Given the description of an element on the screen output the (x, y) to click on. 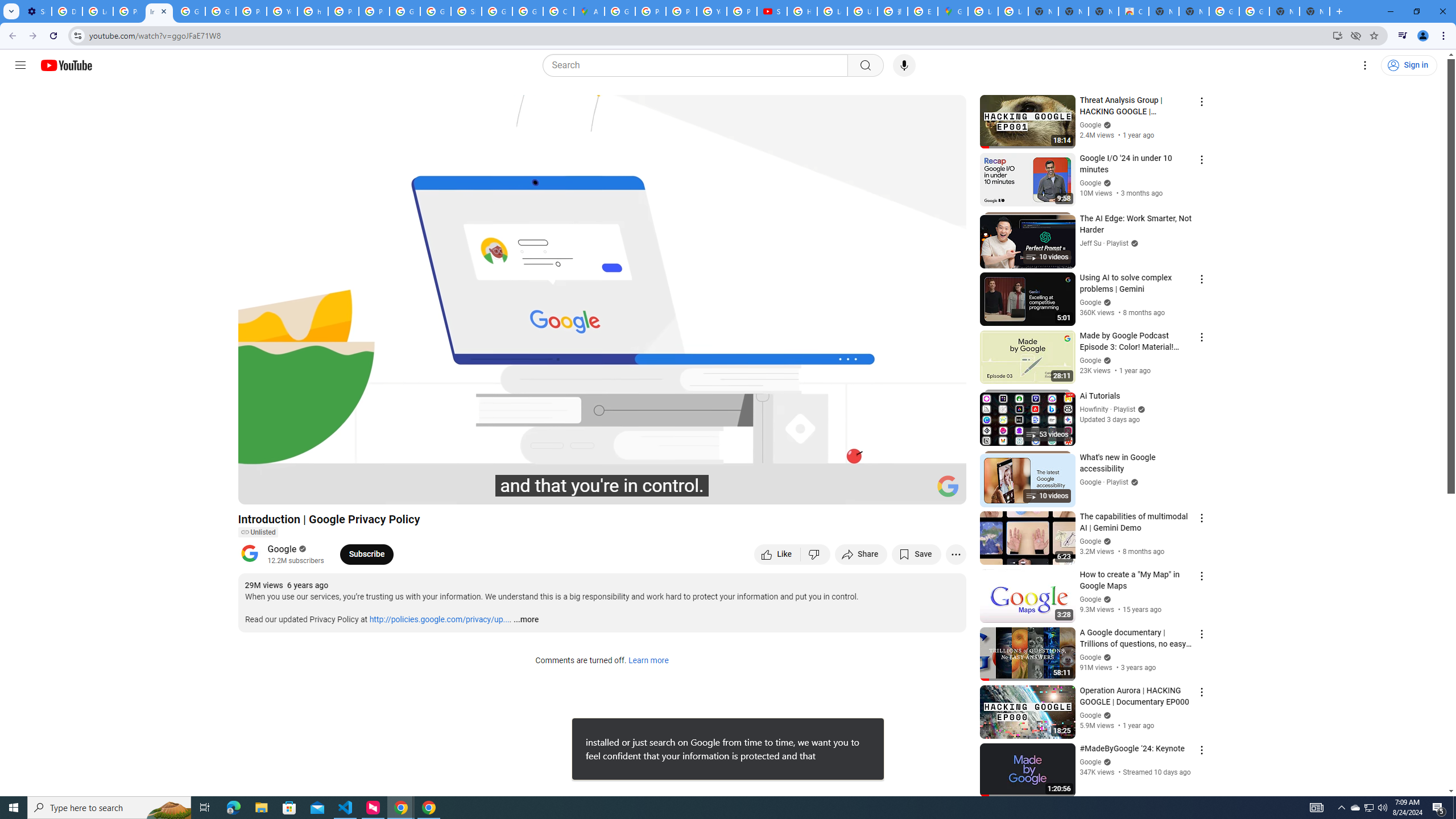
Seek slider (601, 476)
Privacy Help Center - Policies Help (681, 11)
Miniplayer (i) (890, 490)
...more (525, 620)
Google Account Help (189, 11)
Settings - Performance (36, 11)
Subtitles/closed captions unavailable (836, 490)
